Given the description of an element on the screen output the (x, y) to click on. 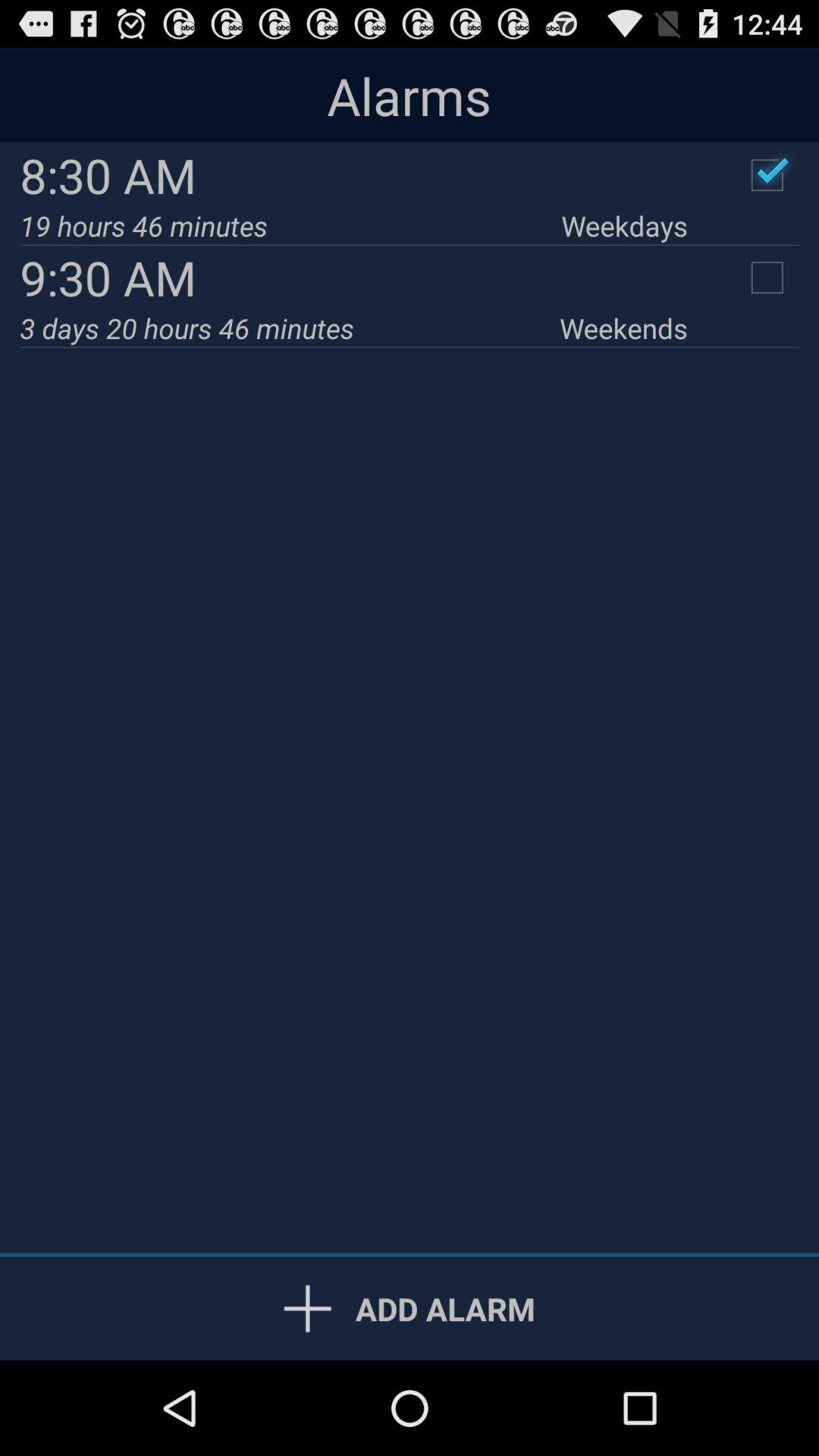
flip until the weekends icon (623, 327)
